Given the description of an element on the screen output the (x, y) to click on. 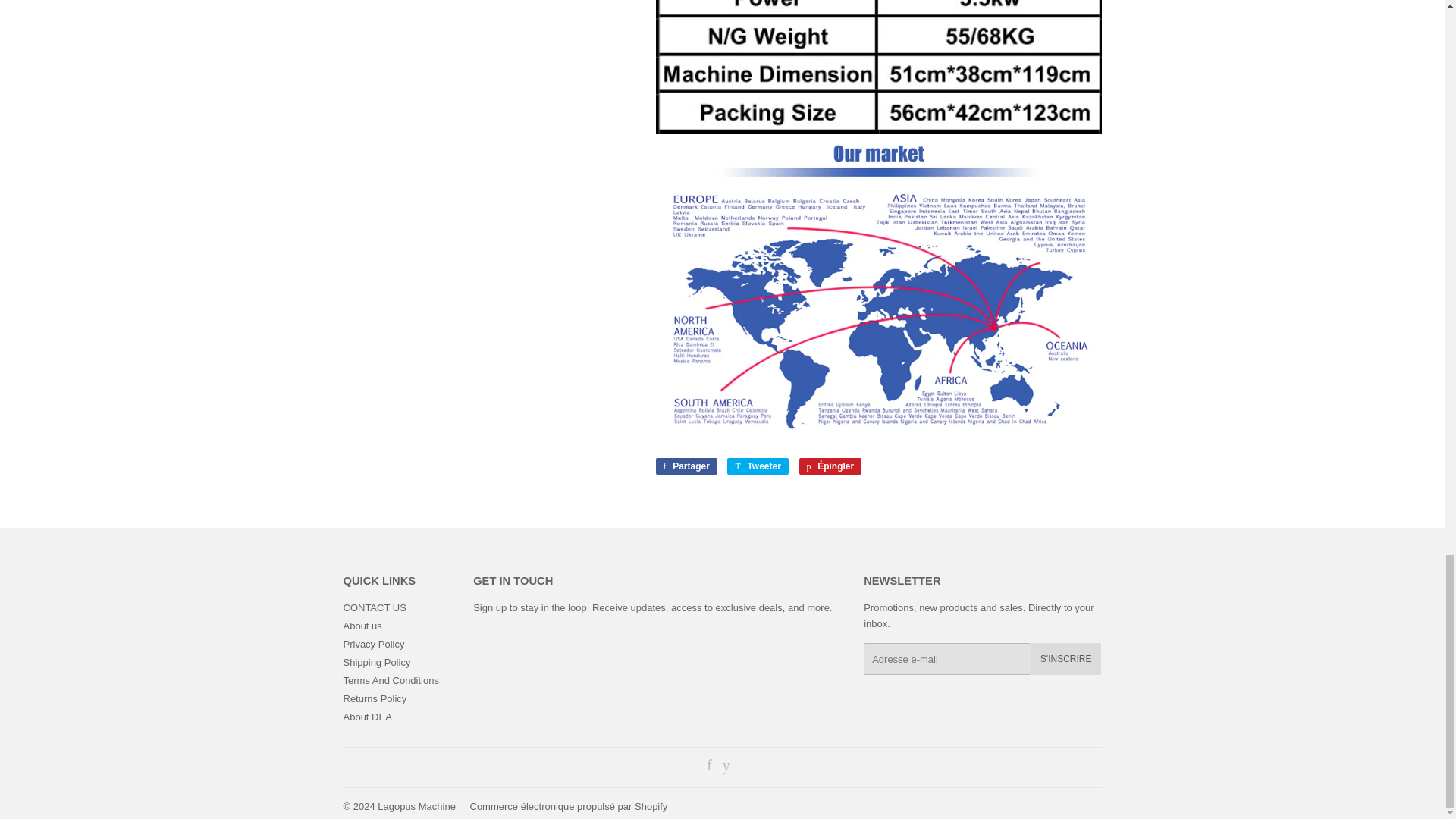
Lagopus Machine sur YouTube (726, 767)
Tweeter sur Twitter (756, 466)
Partager sur Facebook (685, 466)
Lagopus Machine sur Facebook (708, 767)
